Given the description of an element on the screen output the (x, y) to click on. 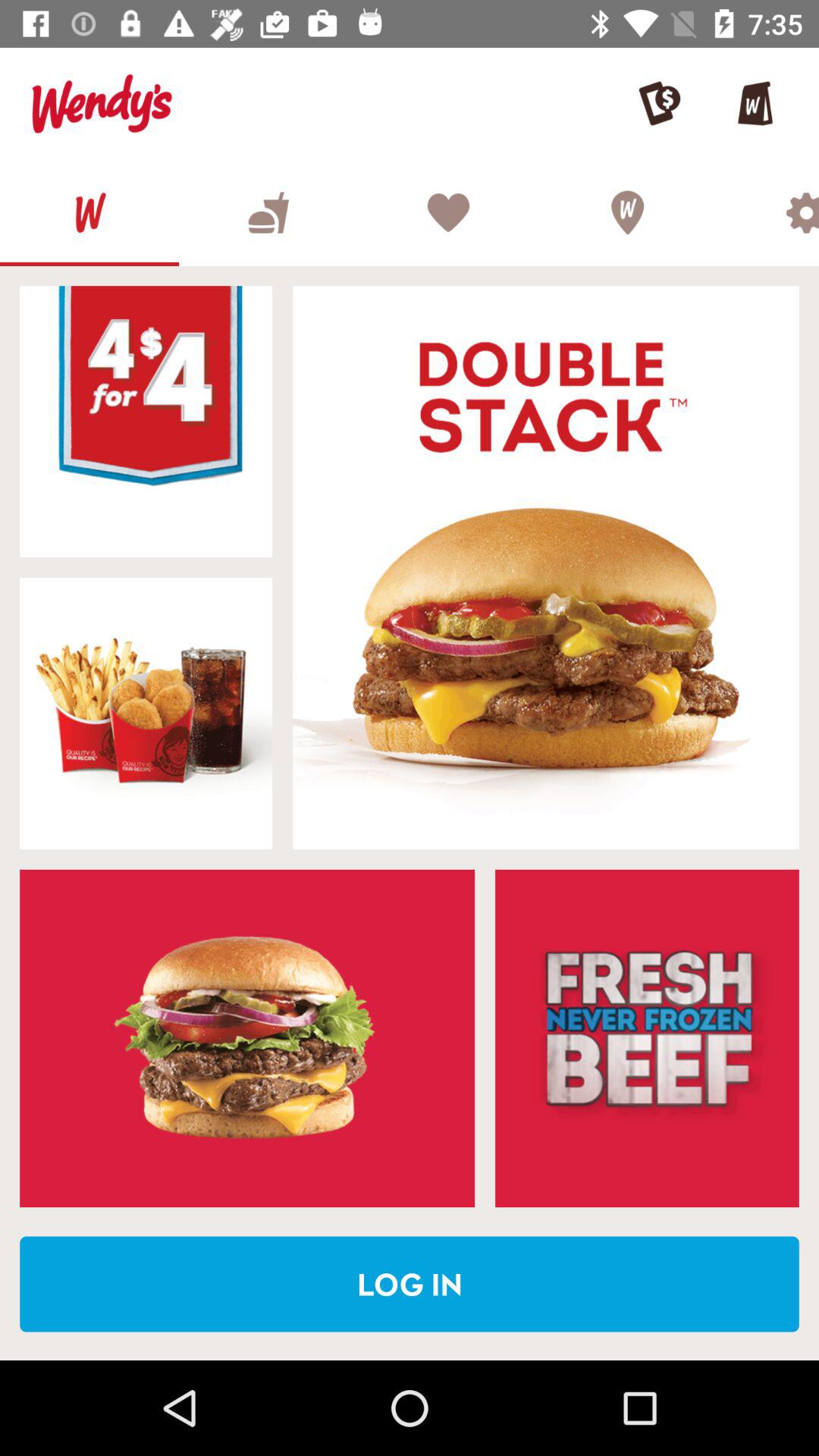
homepage option (89, 212)
